Given the description of an element on the screen output the (x, y) to click on. 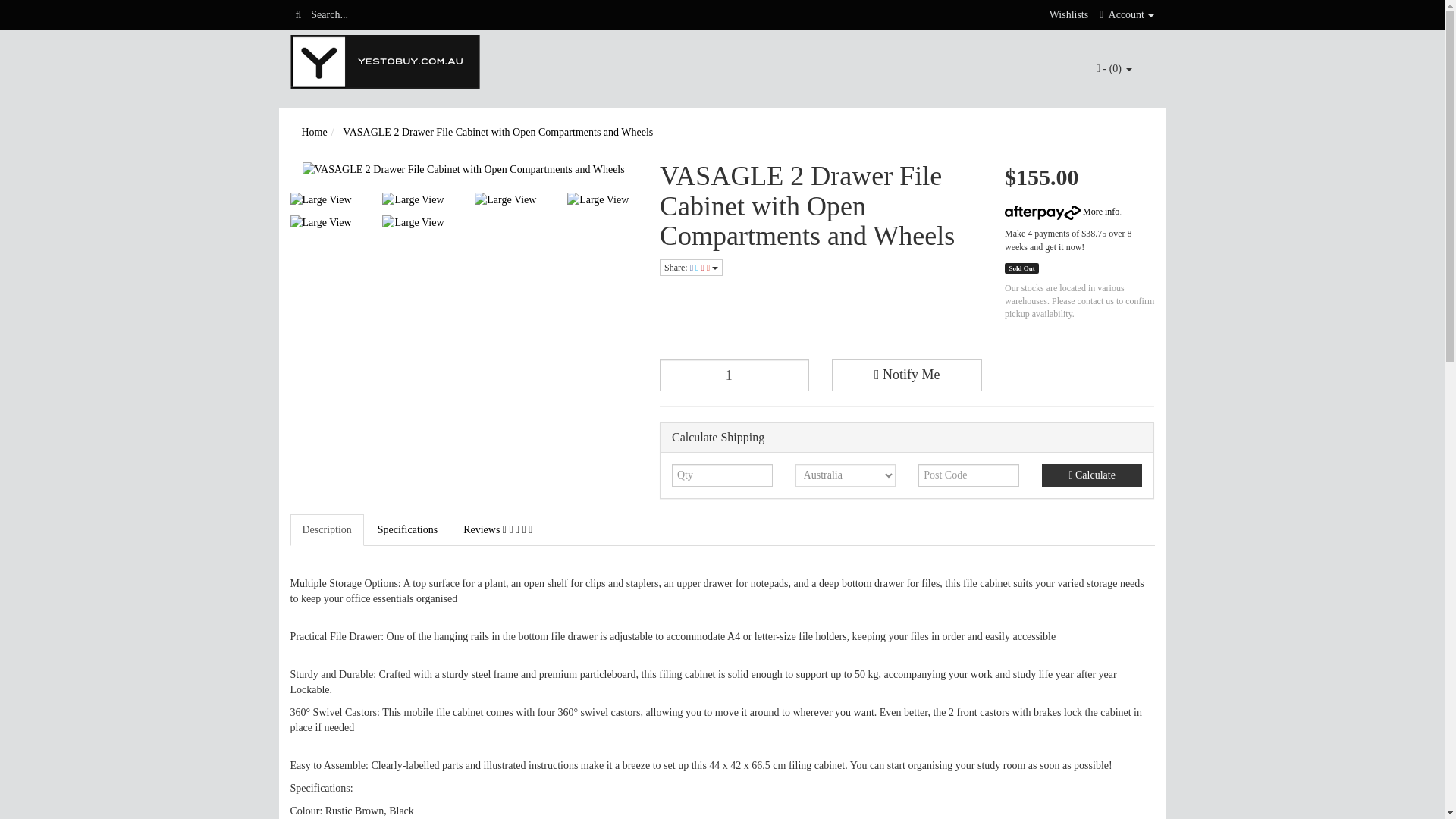
 Account (1126, 14)
Specifications (407, 530)
1 (734, 375)
Large View (324, 222)
More info (1061, 211)
Calculate (1092, 475)
Share: (690, 267)
Large View (416, 200)
